Given the description of an element on the screen output the (x, y) to click on. 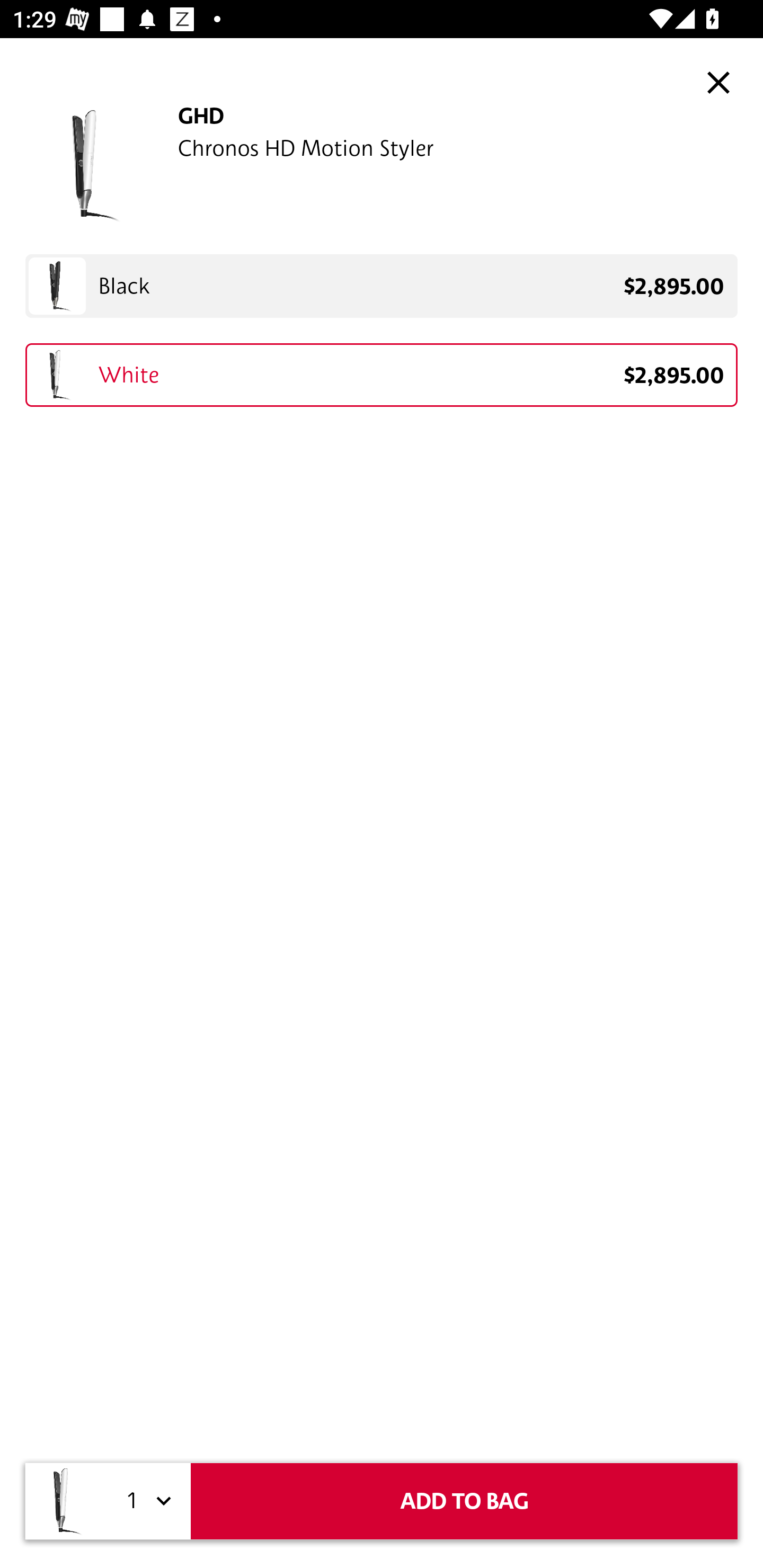
image description (718, 81)
GHD Chronos HD Motion Styler (381, 164)
Black $2,895.00 (381, 285)
White $2,895.00 (381, 375)
1 (145, 1500)
ADD TO BAG (463, 1500)
